Given the description of an element on the screen output the (x, y) to click on. 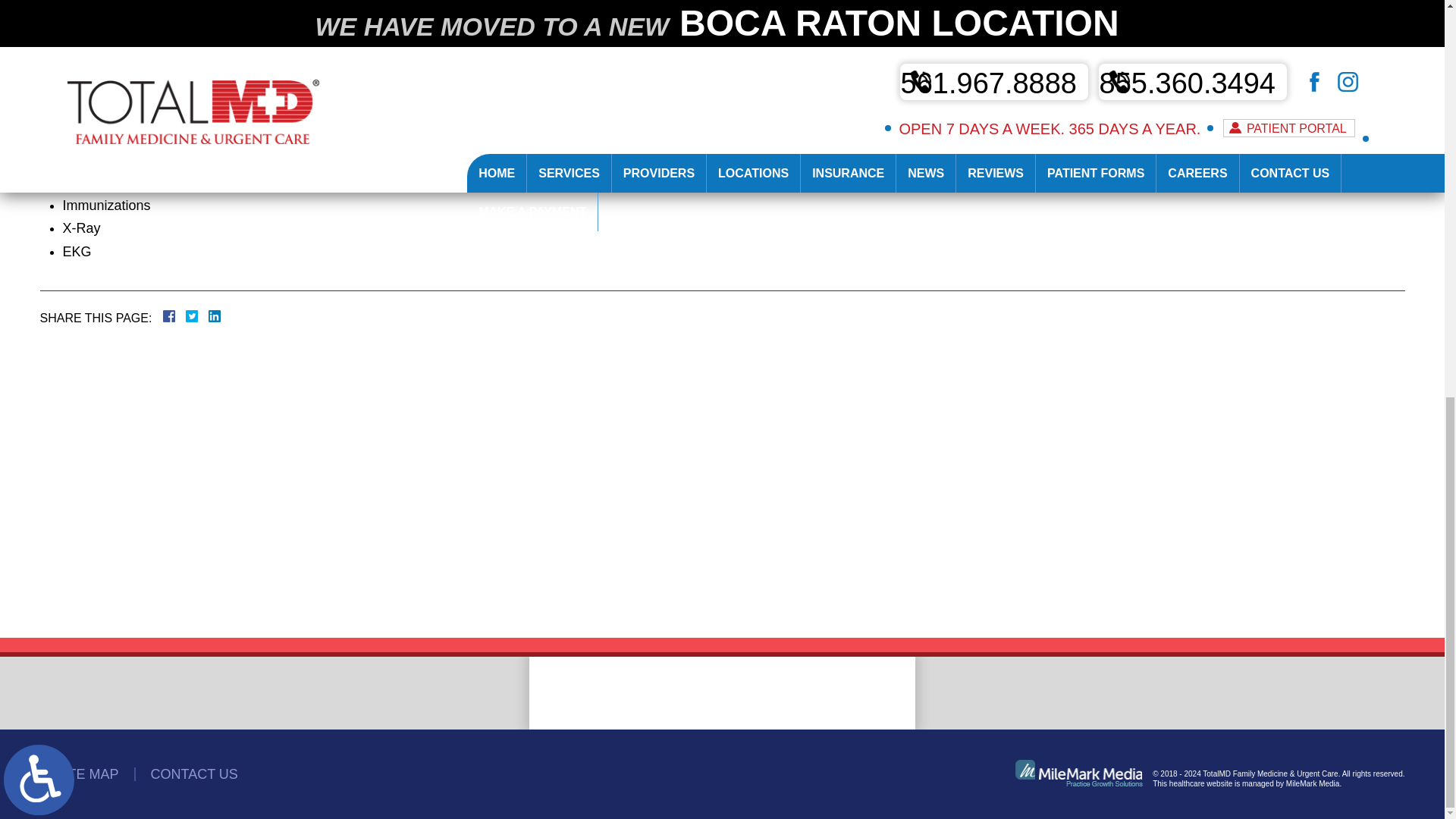
Twitter (197, 315)
MileMark Media - Practice Growth Solutions (1078, 773)
Facebook (187, 315)
LinkedIn (208, 315)
